Given the description of an element on the screen output the (x, y) to click on. 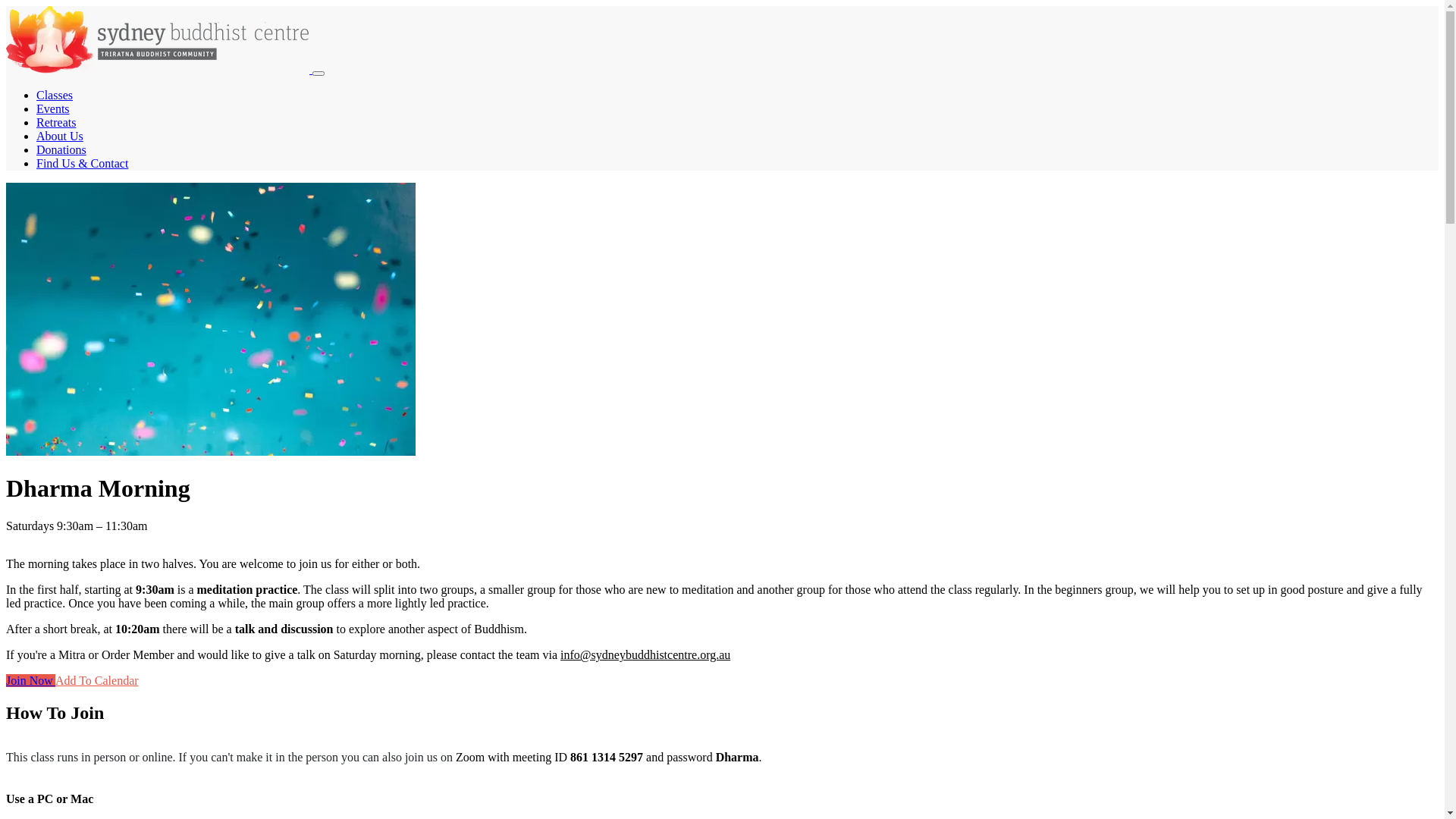
About Us Element type: text (59, 135)
Join Now Element type: text (30, 680)
Classes Element type: text (54, 94)
info@sydneybuddhistcentre.org.au Element type: text (645, 654)
Add To Calendar Element type: text (96, 680)
Events Element type: text (52, 108)
Retreats Element type: text (55, 122)
Donations Element type: text (61, 149)
Find Us & Contact Element type: text (82, 162)
